Given the description of an element on the screen output the (x, y) to click on. 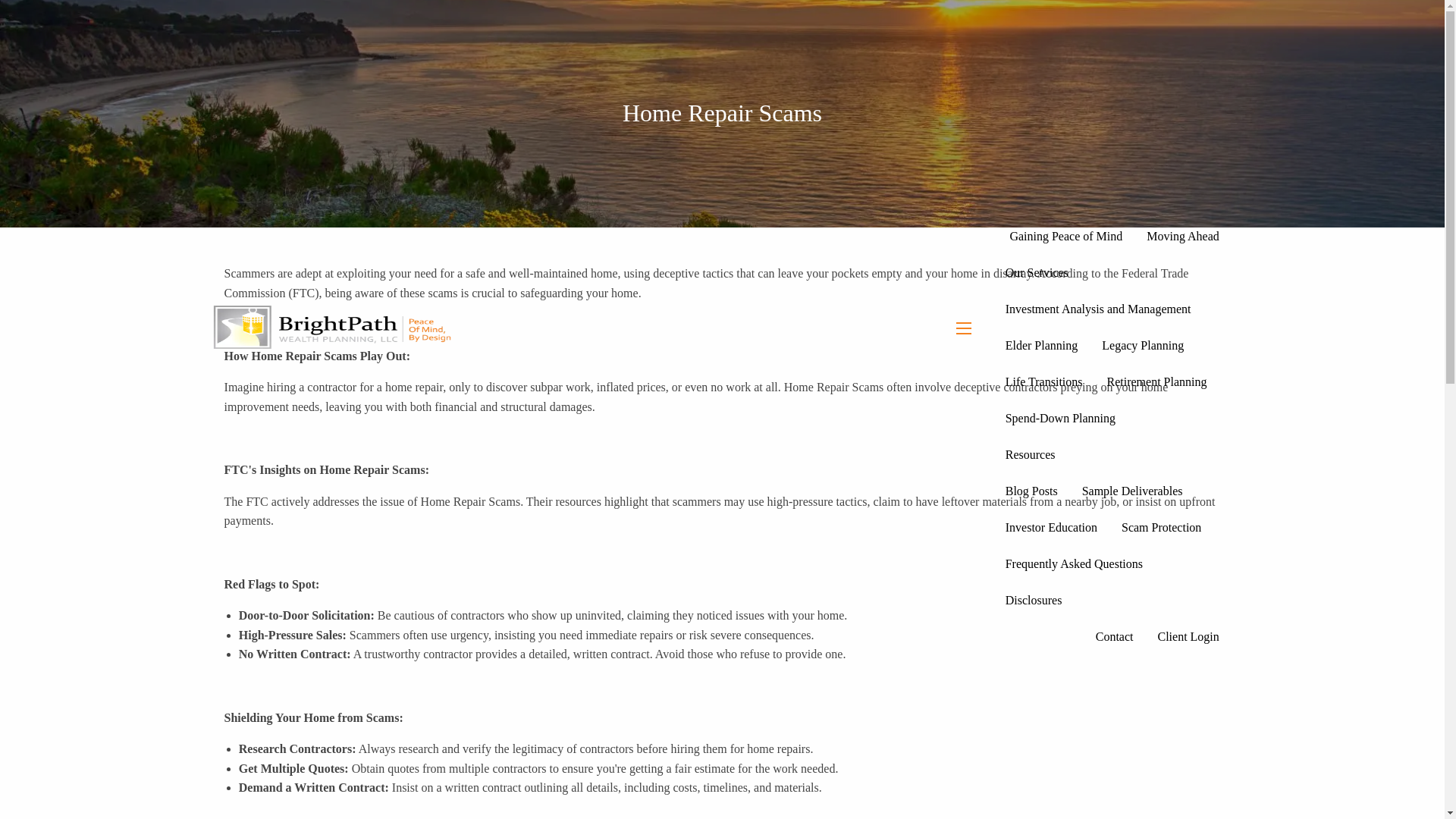
Information on Common Scams (1160, 527)
Disclosures (1033, 600)
Spend-Down Planning (1059, 418)
Legacy Planning (1142, 345)
Frequently Asked Questions (1073, 564)
Client Login (1187, 636)
Contact (1114, 636)
Our Services (1111, 272)
Our Philosophy (1121, 90)
